Given the description of an element on the screen output the (x, y) to click on. 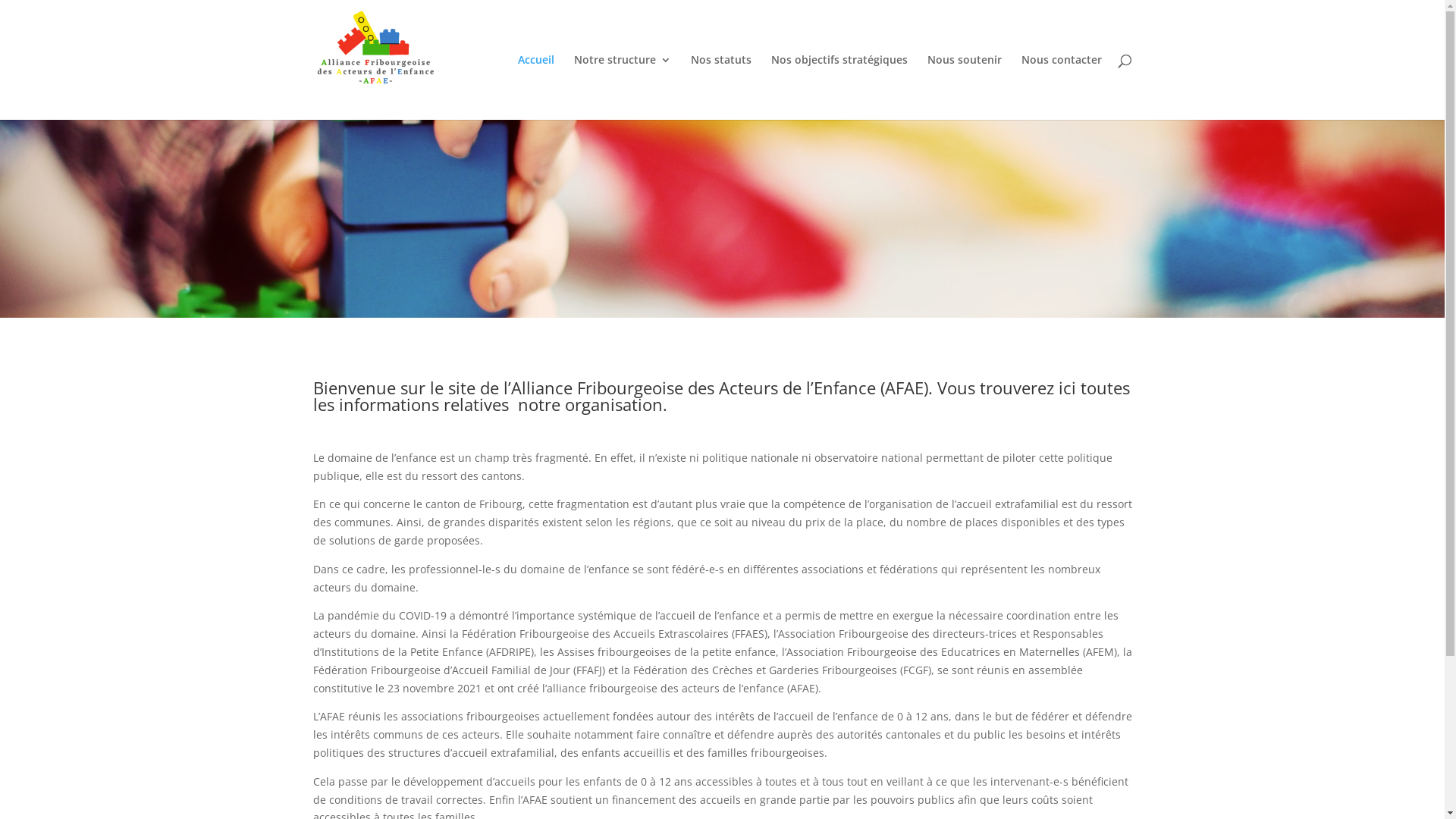
Nous soutenir Element type: text (963, 86)
Notre structure Element type: text (621, 86)
Nos statuts Element type: text (720, 86)
Accueil Element type: text (535, 86)
Nous contacter Element type: text (1060, 86)
